Given the description of an element on the screen output the (x, y) to click on. 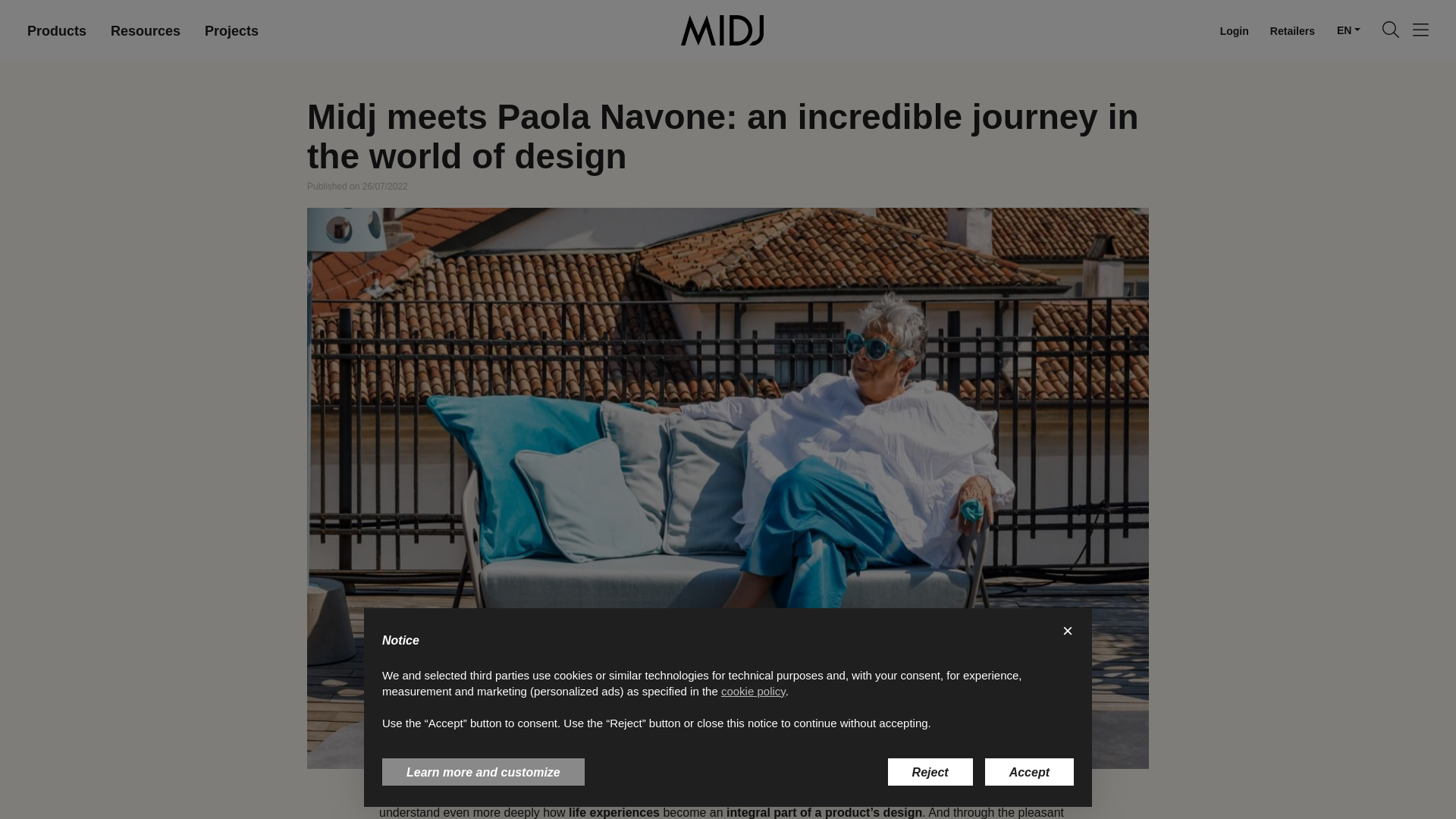
Resources (145, 30)
Projects (231, 30)
Products (56, 30)
Retailers (1291, 30)
Midj (721, 30)
Login (1234, 30)
Midj (721, 30)
EN (1348, 30)
